Given the description of an element on the screen output the (x, y) to click on. 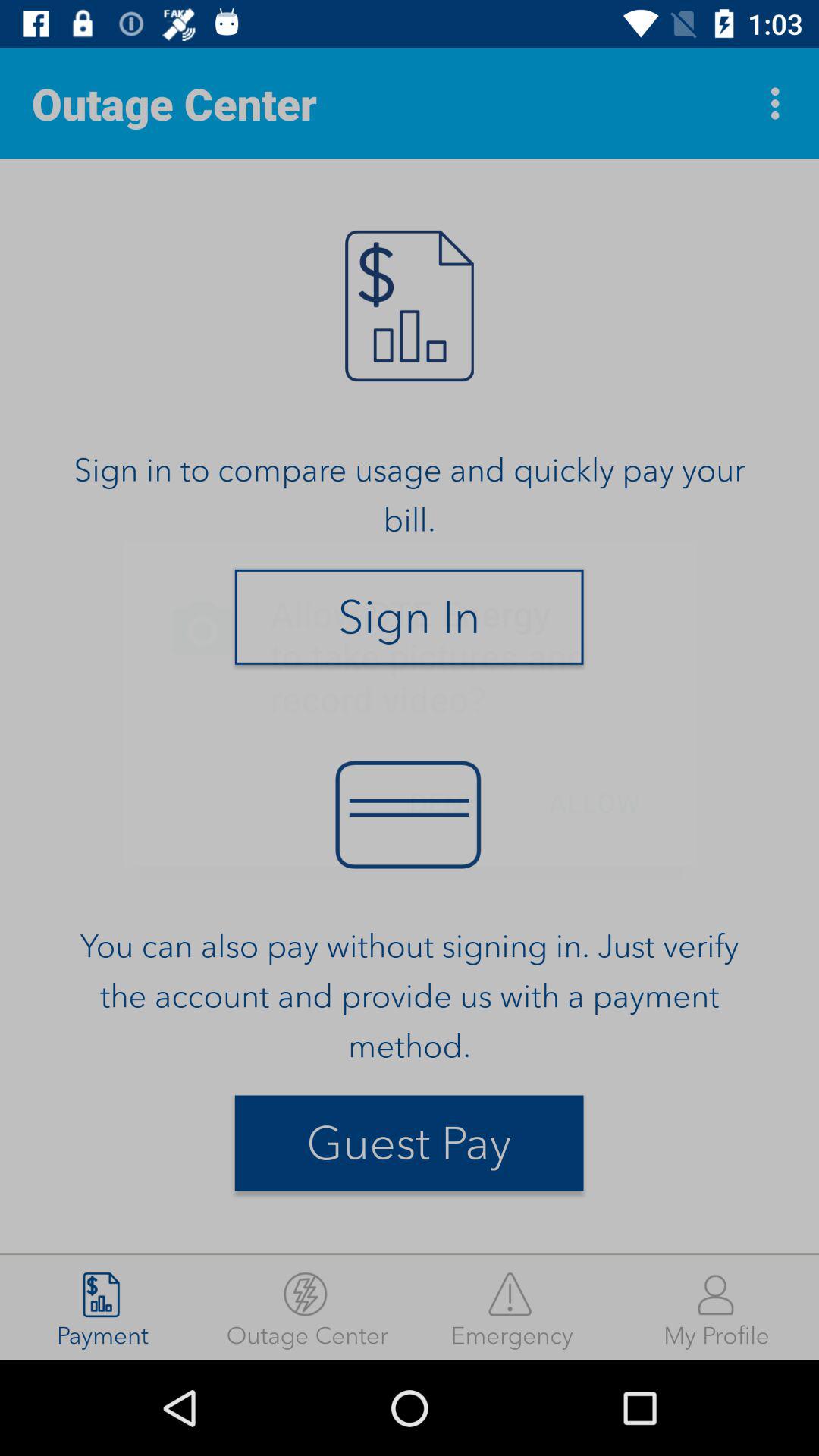
scroll until emergency icon (511, 1307)
